Given the description of an element on the screen output the (x, y) to click on. 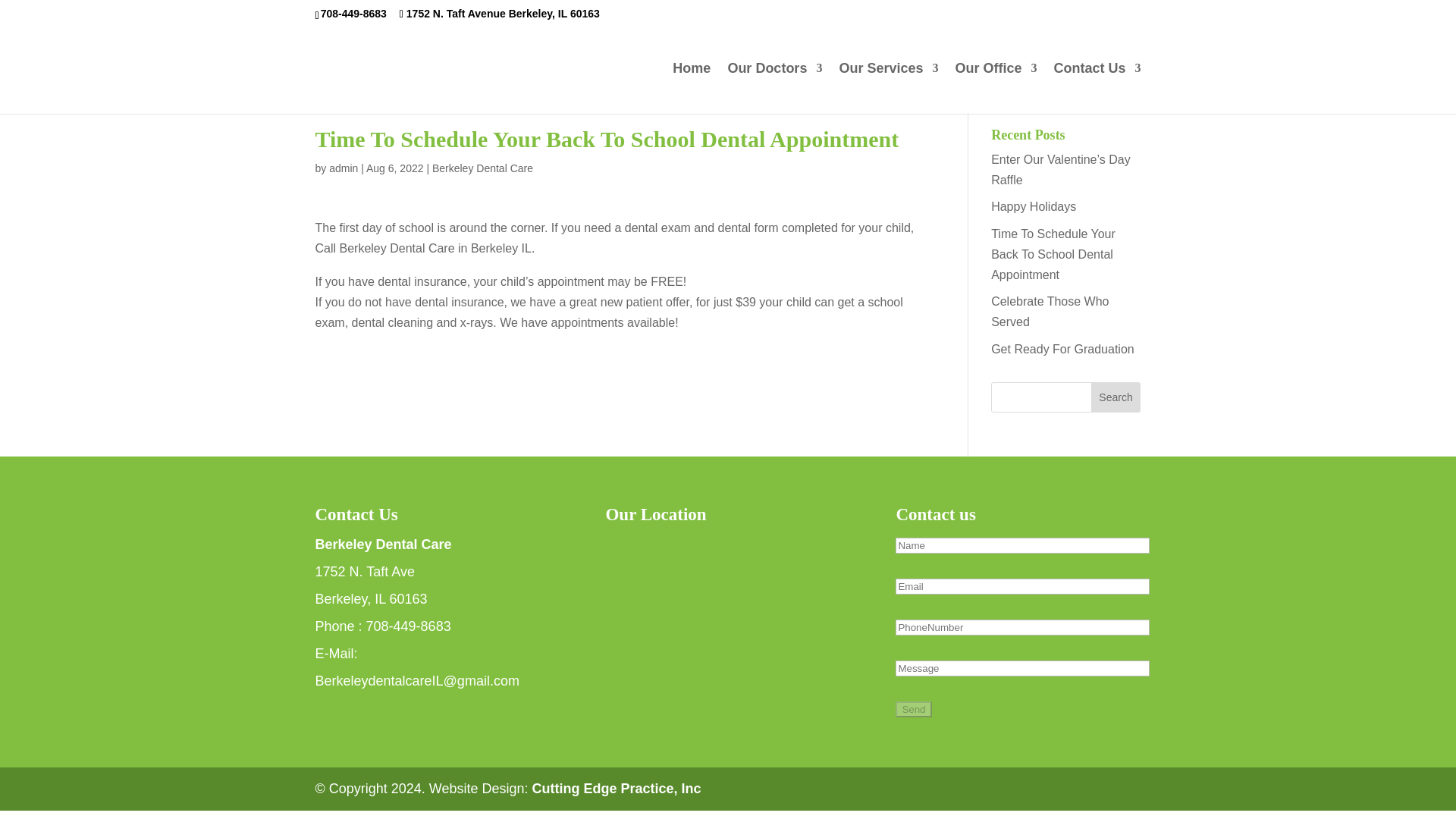
Send (913, 709)
Our Services (887, 88)
Happy Holidays (1033, 205)
Search (1115, 397)
1752 N. Taft Avenue Berkeley, IL 60163 (498, 13)
Search (1115, 397)
Our Office (995, 88)
Get Ready For Graduation (1062, 349)
Contact Us (1096, 88)
Posts by admin (343, 168)
